Given the description of an element on the screen output the (x, y) to click on. 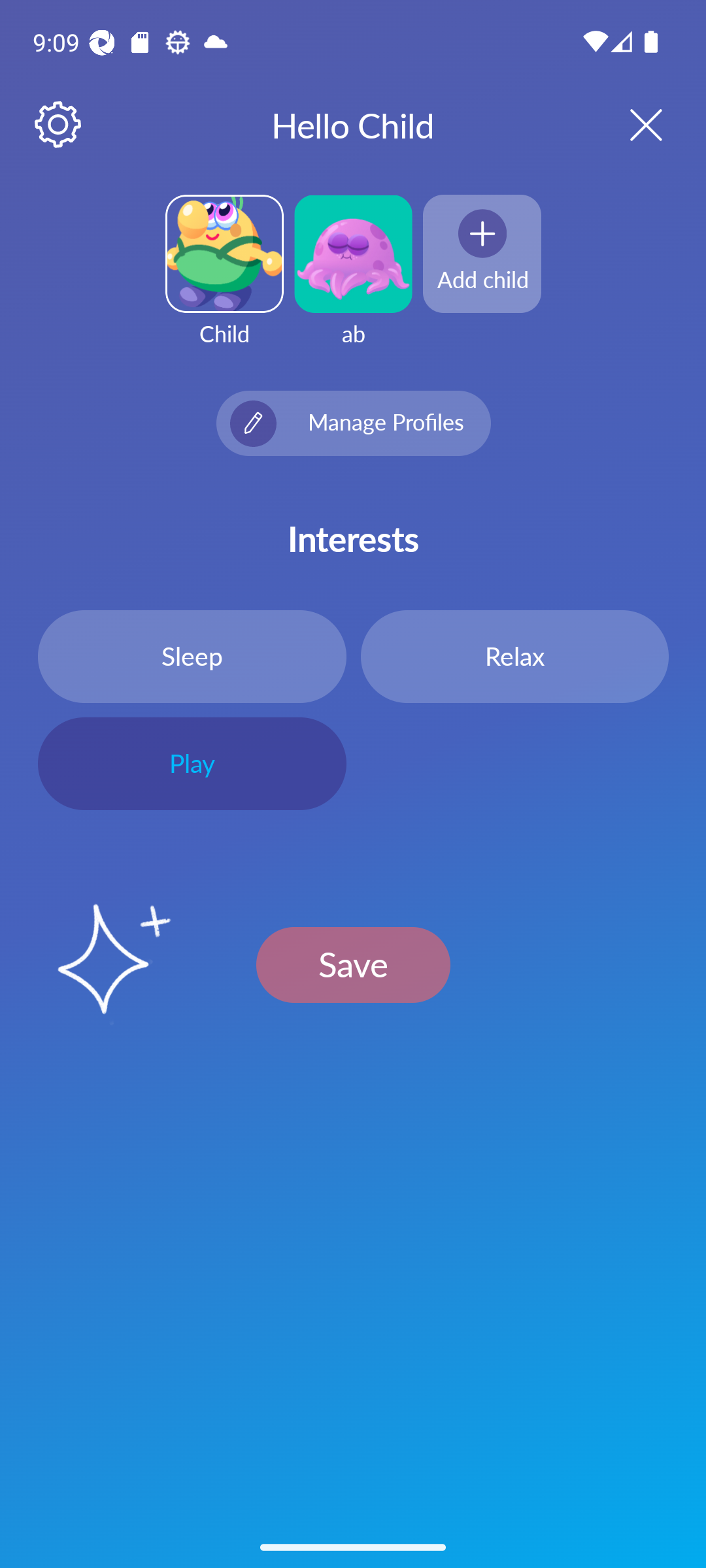
Close (629, 124)
Settings (58, 125)
Child (224, 282)
ab (353, 282)
Add child (481, 253)
icon Manage Profiles (353, 423)
Sleep (192, 655)
Relax (514, 655)
Play (192, 764)
Save (353, 964)
